Given the description of an element on the screen output the (x, y) to click on. 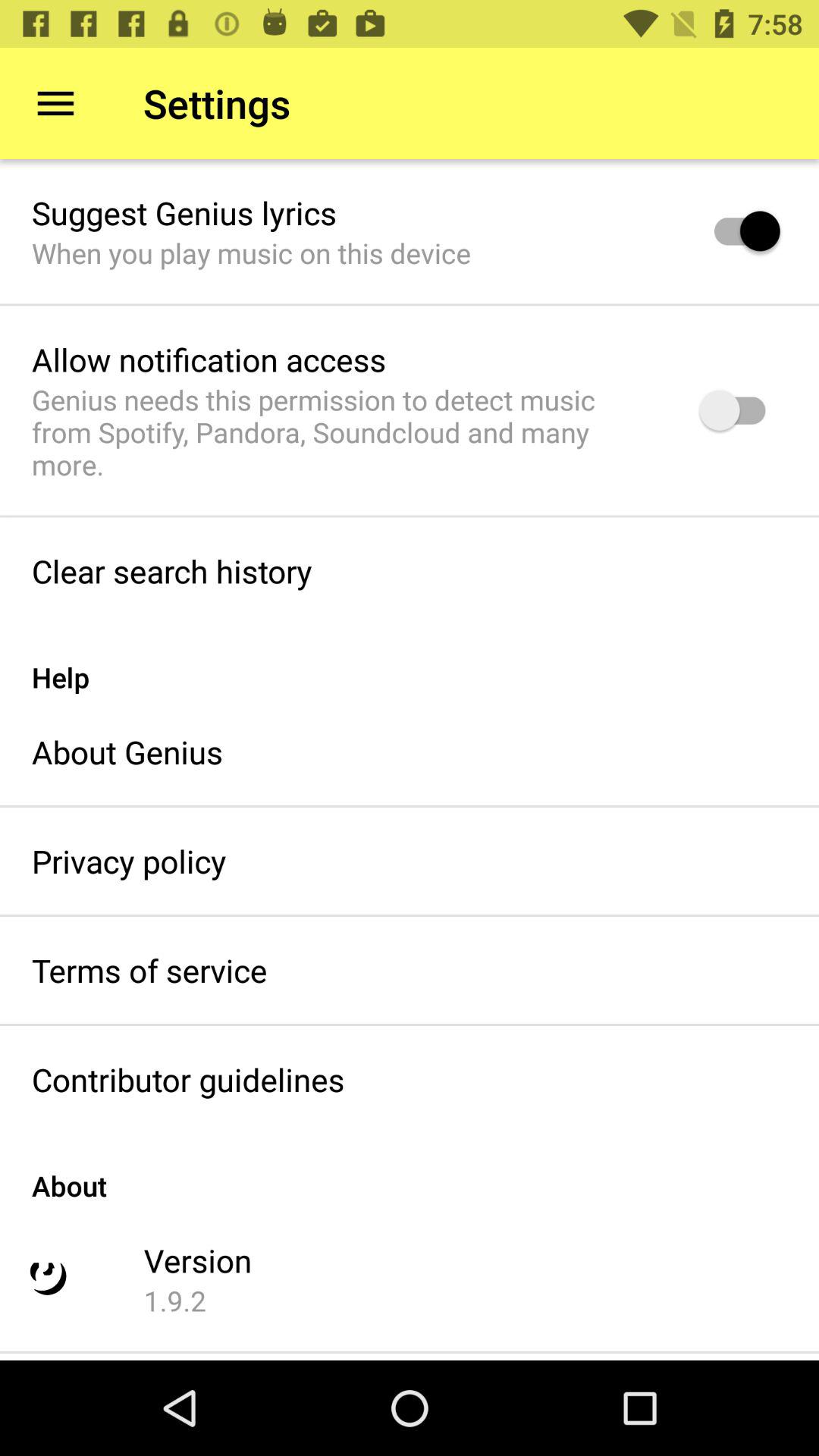
scroll to suggest genius lyrics (183, 212)
